Given the description of an element on the screen output the (x, y) to click on. 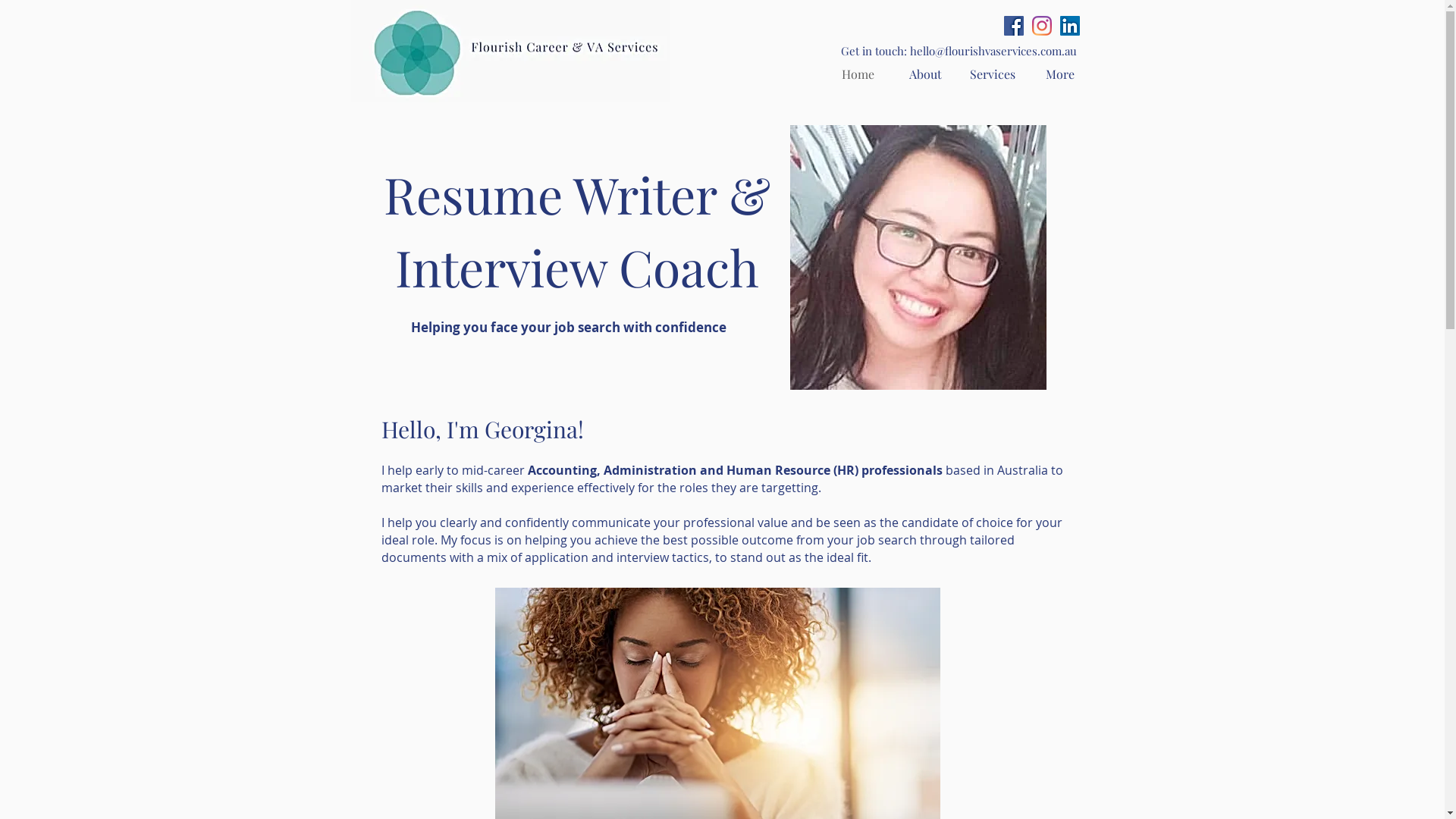
About Element type: text (925, 74)
Get in touch: hello@flourishvaservices.com.au Element type: text (958, 50)
Home Element type: text (857, 74)
